Given the description of an element on the screen output the (x, y) to click on. 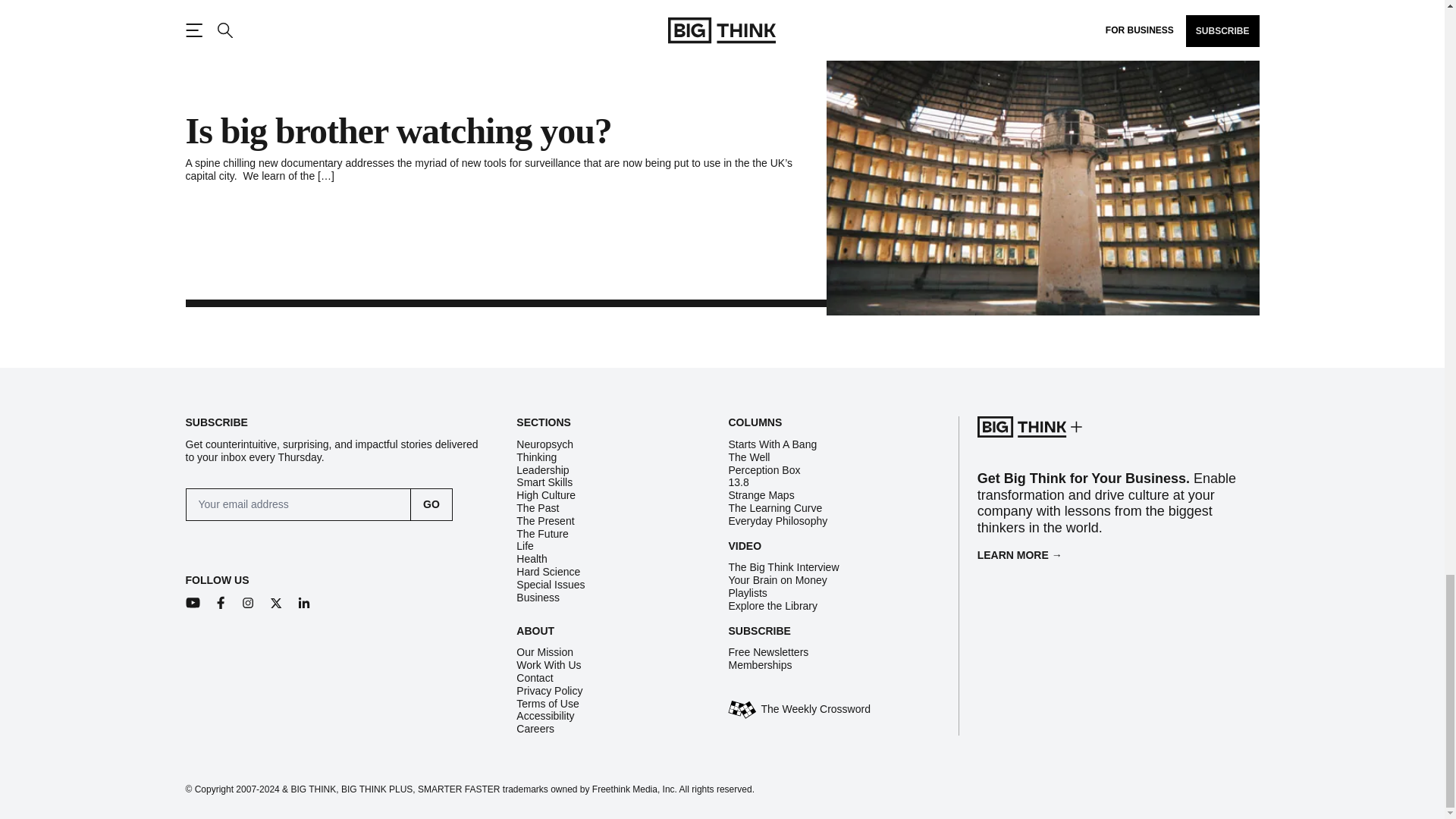
Go (431, 504)
